Given the description of an element on the screen output the (x, y) to click on. 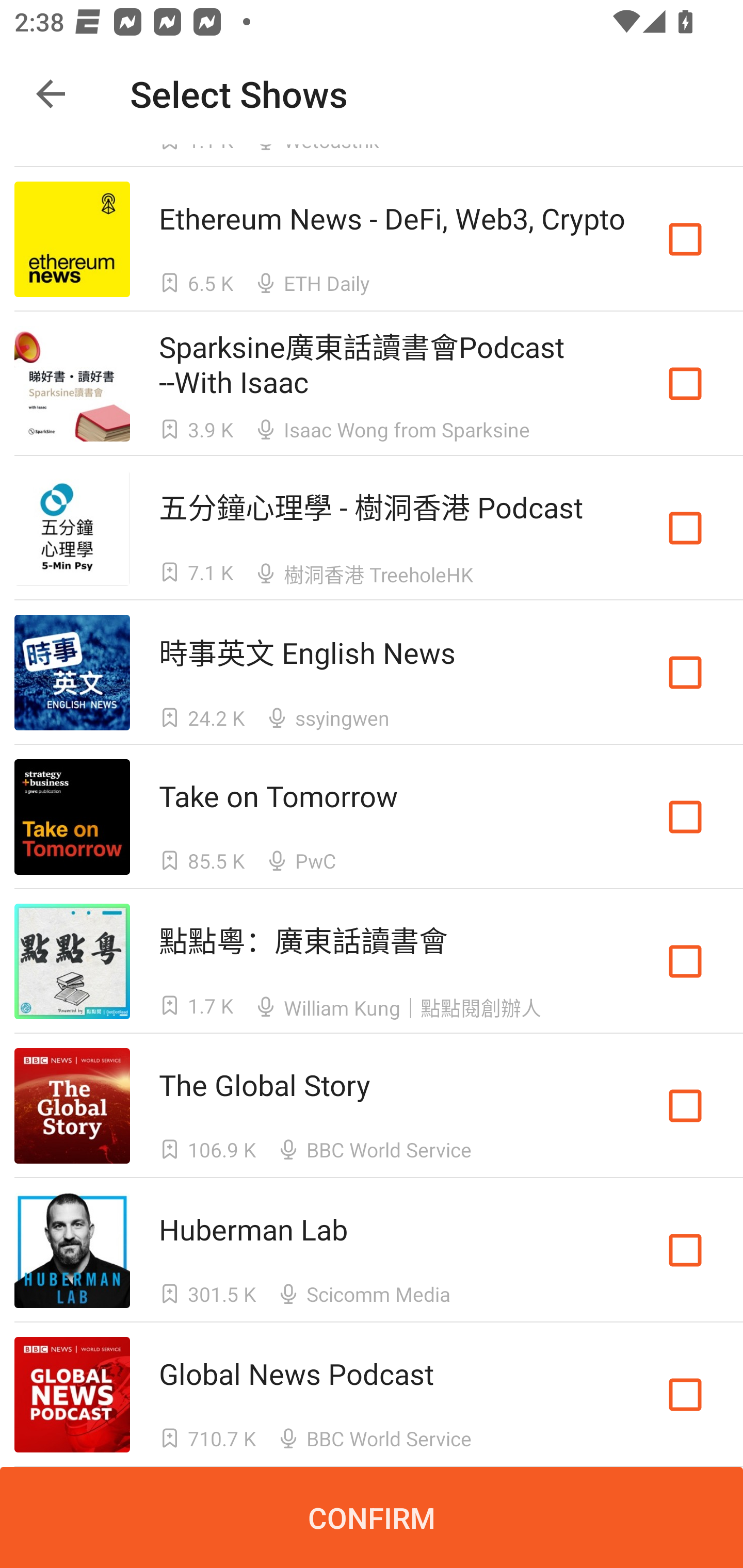
Navigate up (50, 93)
Take on Tomorrow Take on Tomorrow  85.5 K  PwC (371, 816)
CONFIRM (371, 1517)
